Given the description of an element on the screen output the (x, y) to click on. 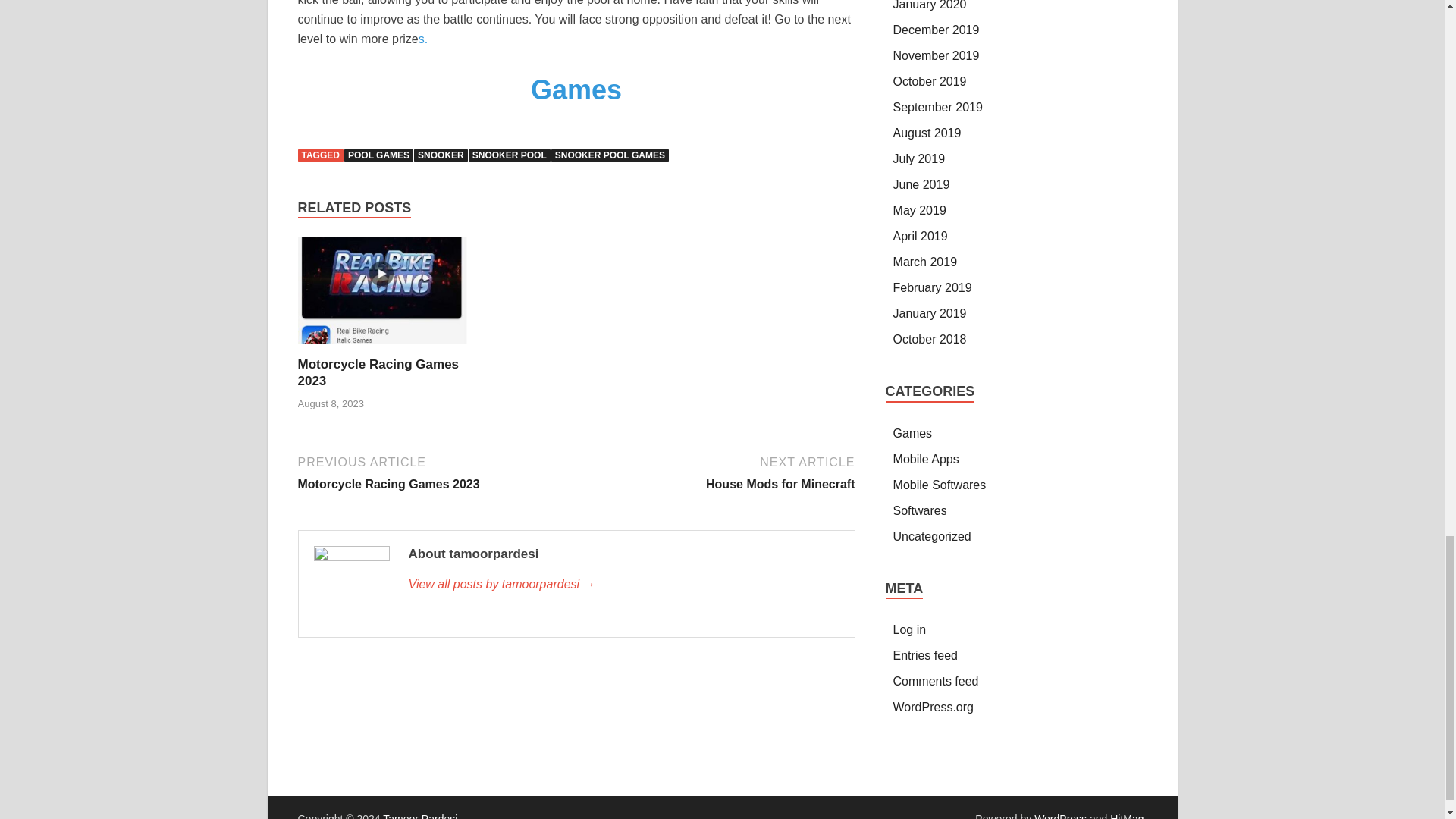
Motorcycle Racing Games 2023 (377, 372)
Games (576, 89)
Motorcycle Racing Games 2023 (383, 295)
SNOOKER (440, 155)
Motorcycle Racing Games 2023 (377, 372)
SNOOKER POOL GAMES (717, 471)
SNOOKER POOL (434, 471)
tamoorpardesi (609, 155)
